Given the description of an element on the screen output the (x, y) to click on. 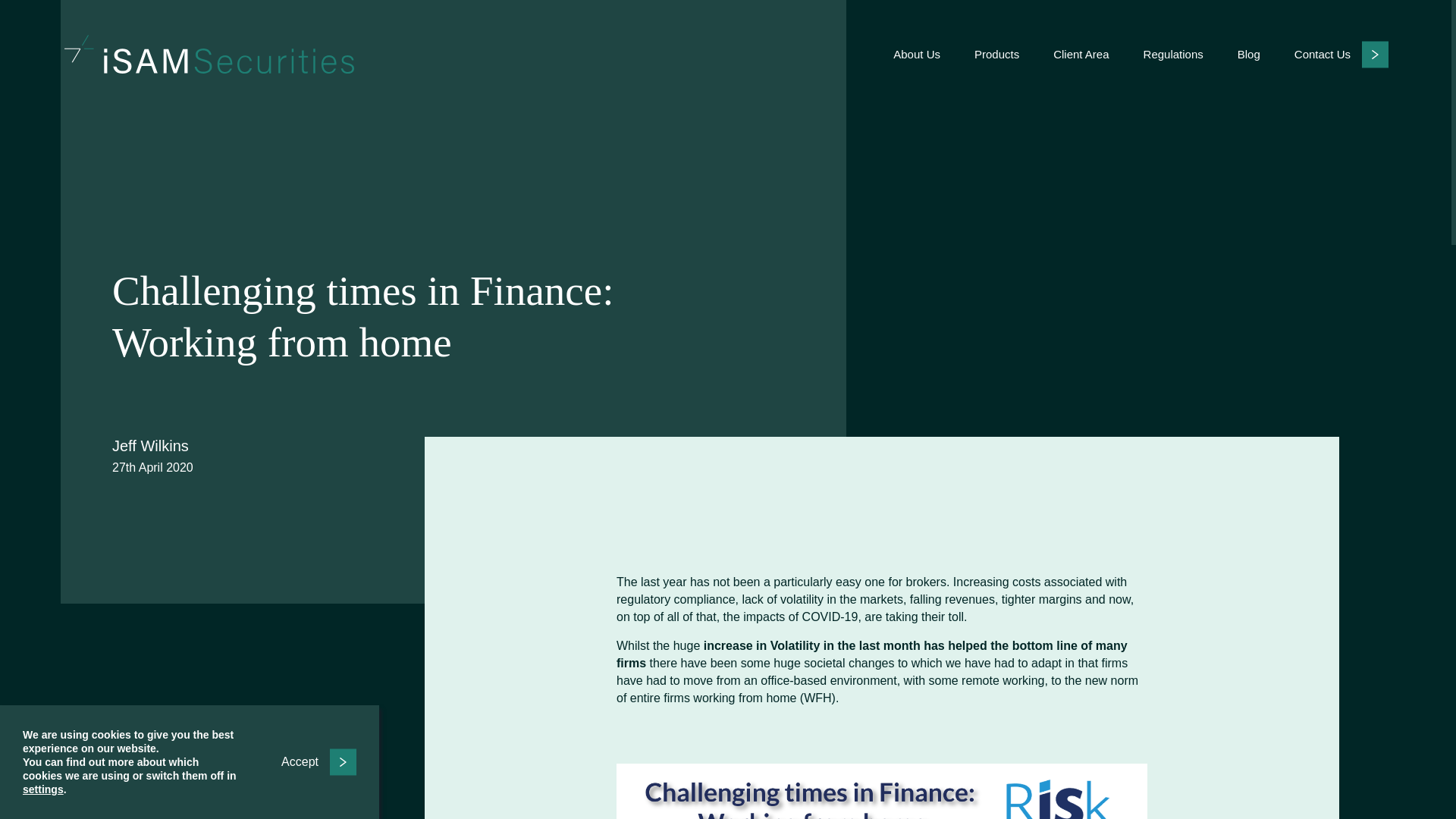
Regulations (1173, 53)
About Us (916, 53)
Blog (1248, 53)
settings (43, 789)
Client Area (1080, 53)
Accept (318, 761)
Products (996, 53)
Contact Us (1341, 53)
